Given the description of an element on the screen output the (x, y) to click on. 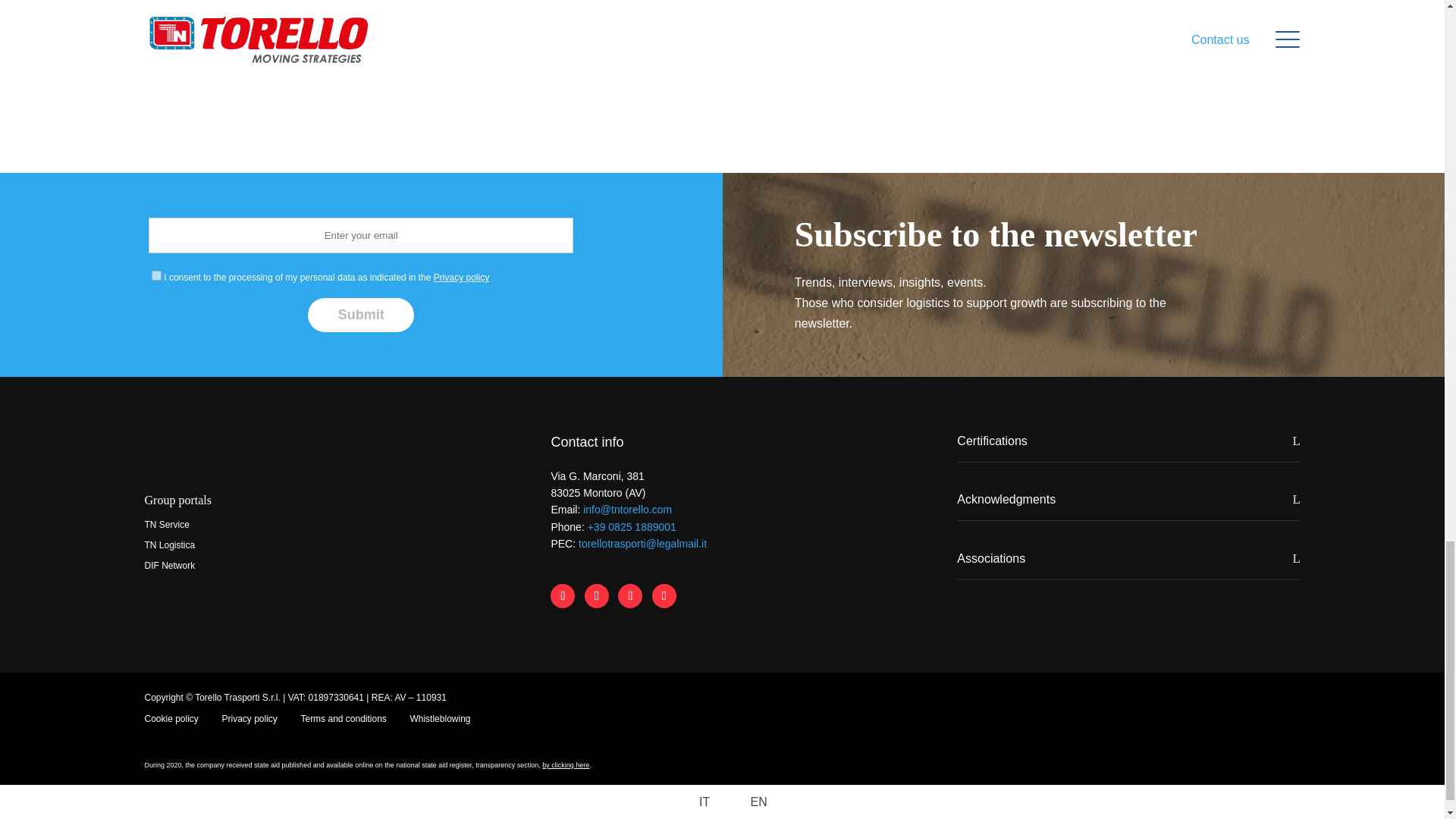
DIF Network (169, 565)
Follow on Youtube (664, 595)
Privacy policy (461, 276)
TN Logistica (169, 544)
Submit (360, 315)
BACK TO BLOG (799, 71)
TN Service (166, 524)
Follow on Instagram (629, 595)
Follow on Facebook (562, 595)
Follow on LinkedIn (596, 595)
